Given the description of an element on the screen output the (x, y) to click on. 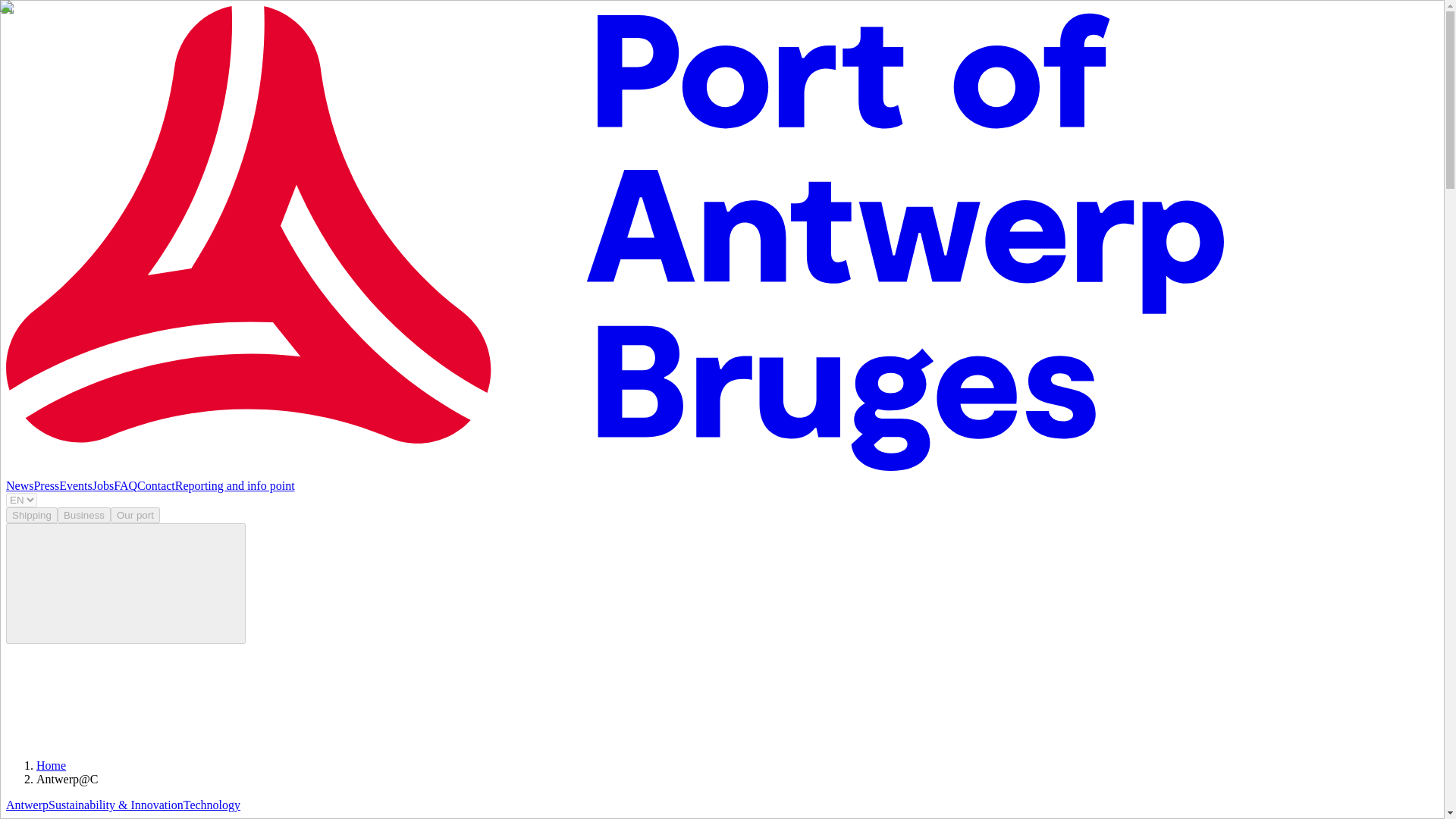
Reporting and info point (234, 485)
Events (76, 485)
Technology (211, 804)
Press (46, 485)
Jobs (103, 485)
Contact (155, 485)
Business (84, 514)
News (19, 485)
FAQ (124, 485)
Home (50, 765)
